Given the description of an element on the screen output the (x, y) to click on. 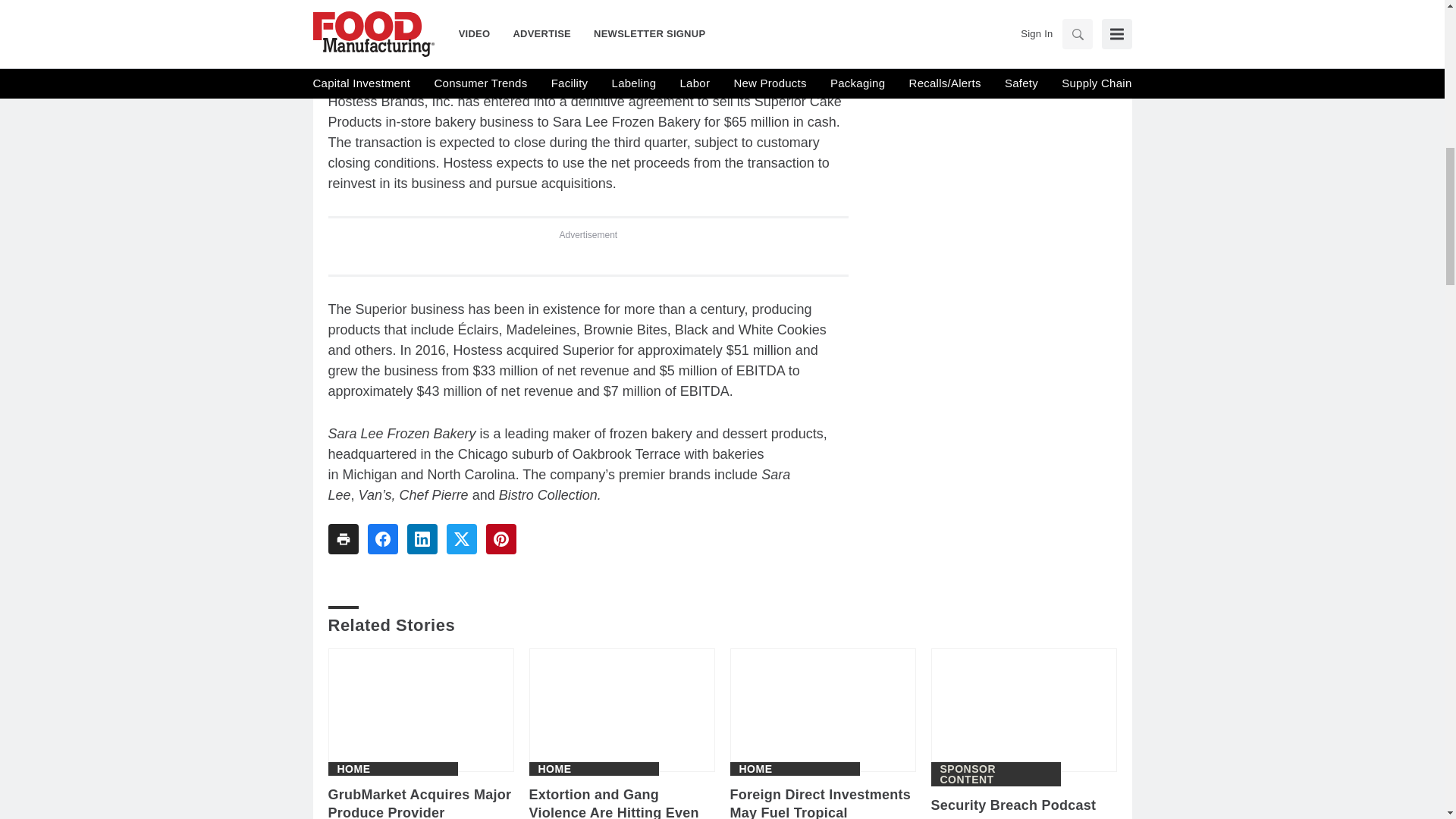
Share To facebook (381, 539)
Share To twitter (460, 539)
Home (555, 768)
Share To print (342, 539)
Home (754, 768)
Share To pinterest (499, 539)
Home (352, 768)
Share To linkedin (421, 539)
